Given the description of an element on the screen output the (x, y) to click on. 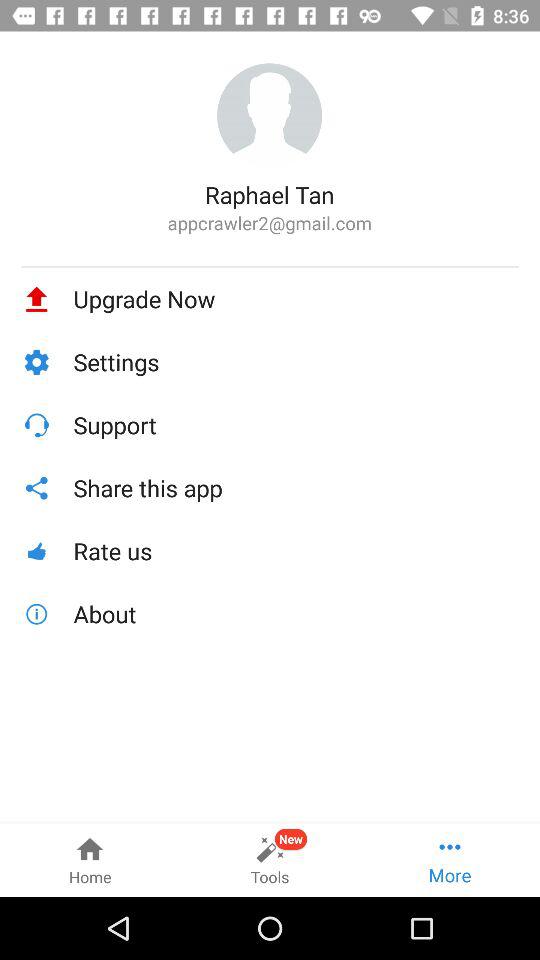
jump until share this app icon (296, 487)
